Given the description of an element on the screen output the (x, y) to click on. 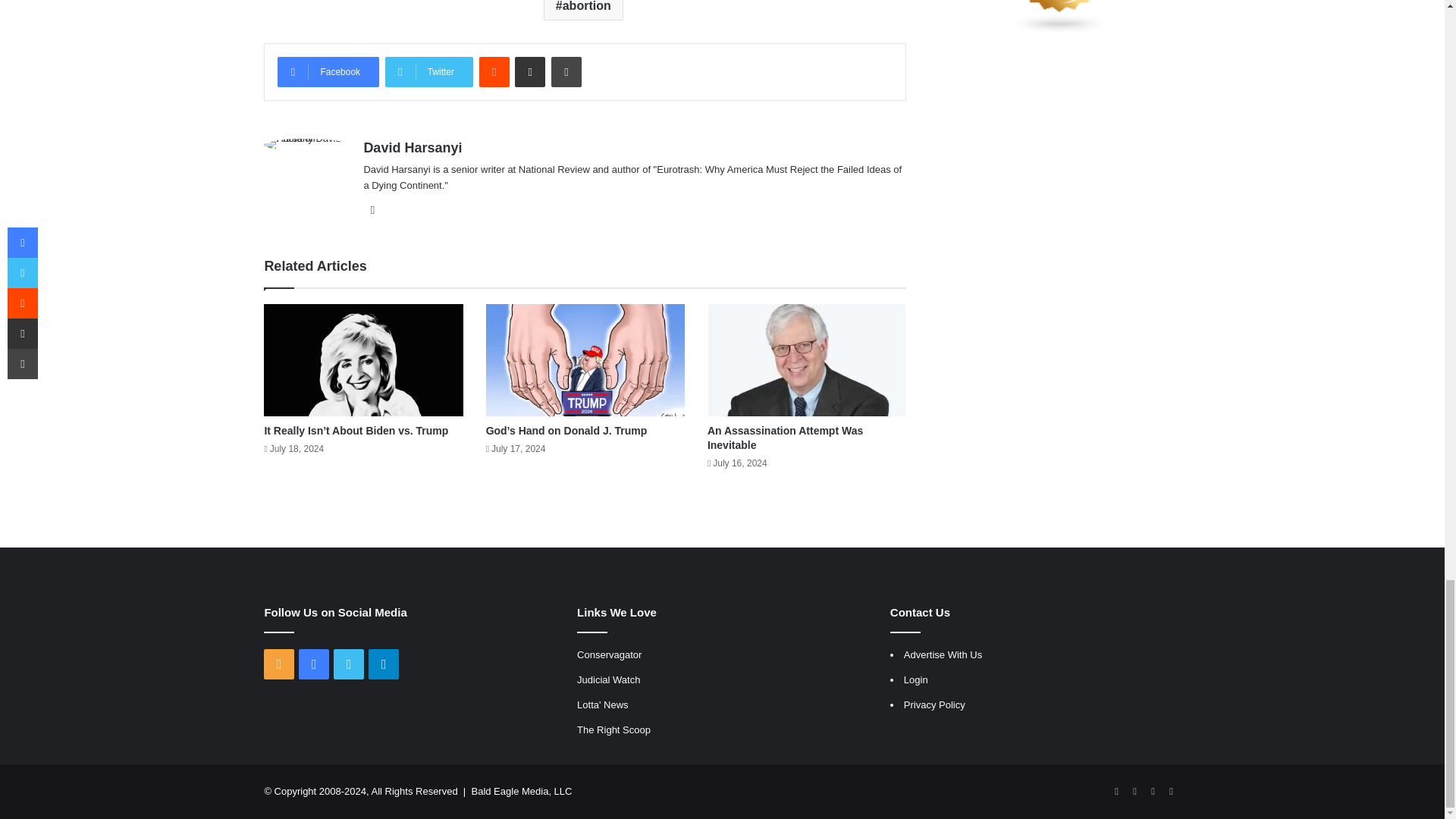
Reddit (494, 71)
Twitter (429, 71)
Facebook (328, 71)
